Given the description of an element on the screen output the (x, y) to click on. 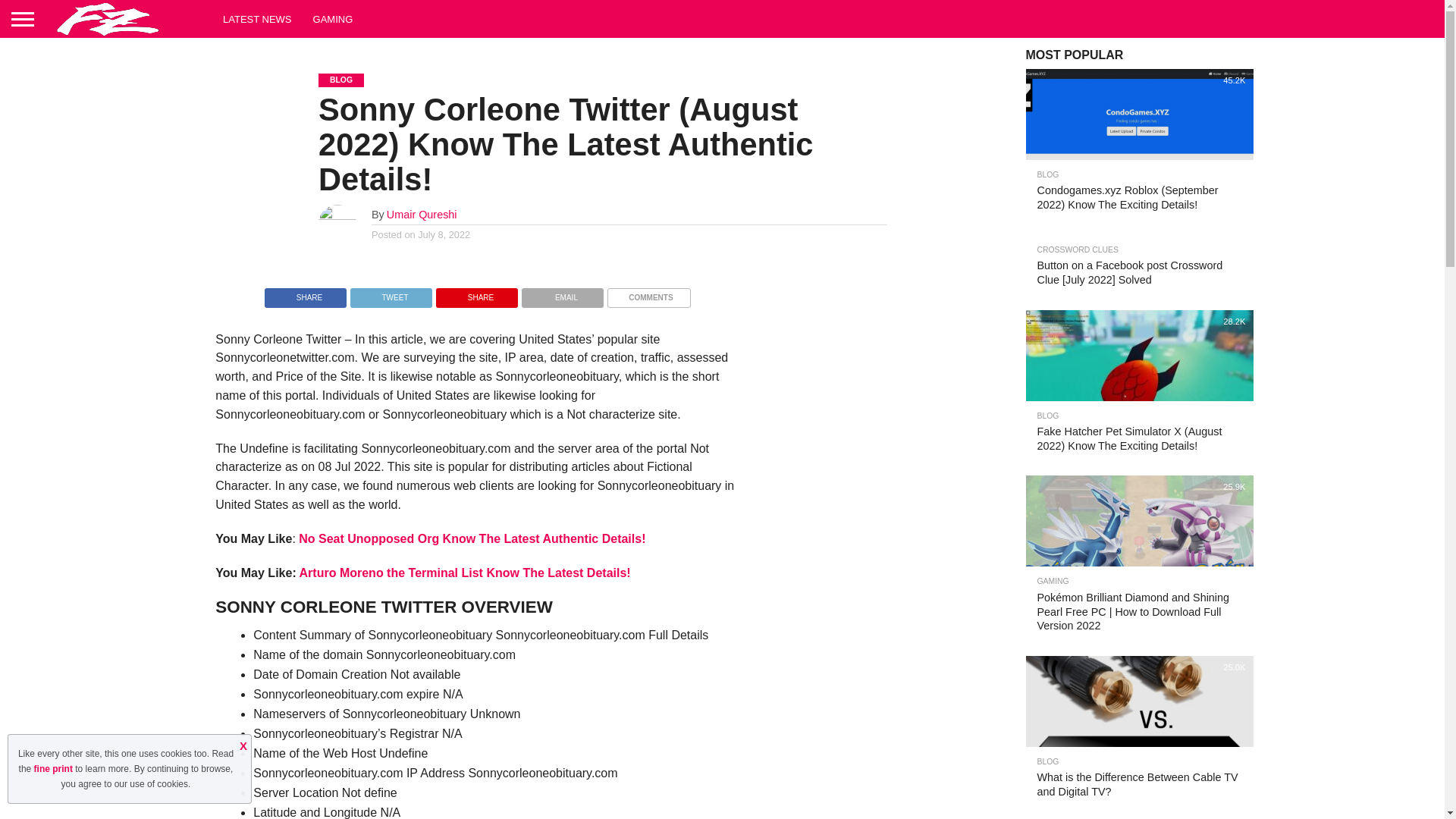
EMAIL (562, 293)
LATEST NEWS (257, 18)
GAMING (333, 18)
Arturo Moreno the Terminal List Know The Latest Details! (464, 572)
No Seat Unopposed Org Know The Latest Authentic Details! (471, 538)
COMMENTS (648, 293)
SHARE (476, 293)
SHARE (305, 293)
Pin This Post (476, 293)
Tweet This Post (390, 293)
Umair Qureshi (422, 214)
TWEET (390, 293)
Share on Facebook (305, 293)
Posts by Umair Qureshi (422, 214)
